Given the description of an element on the screen output the (x, y) to click on. 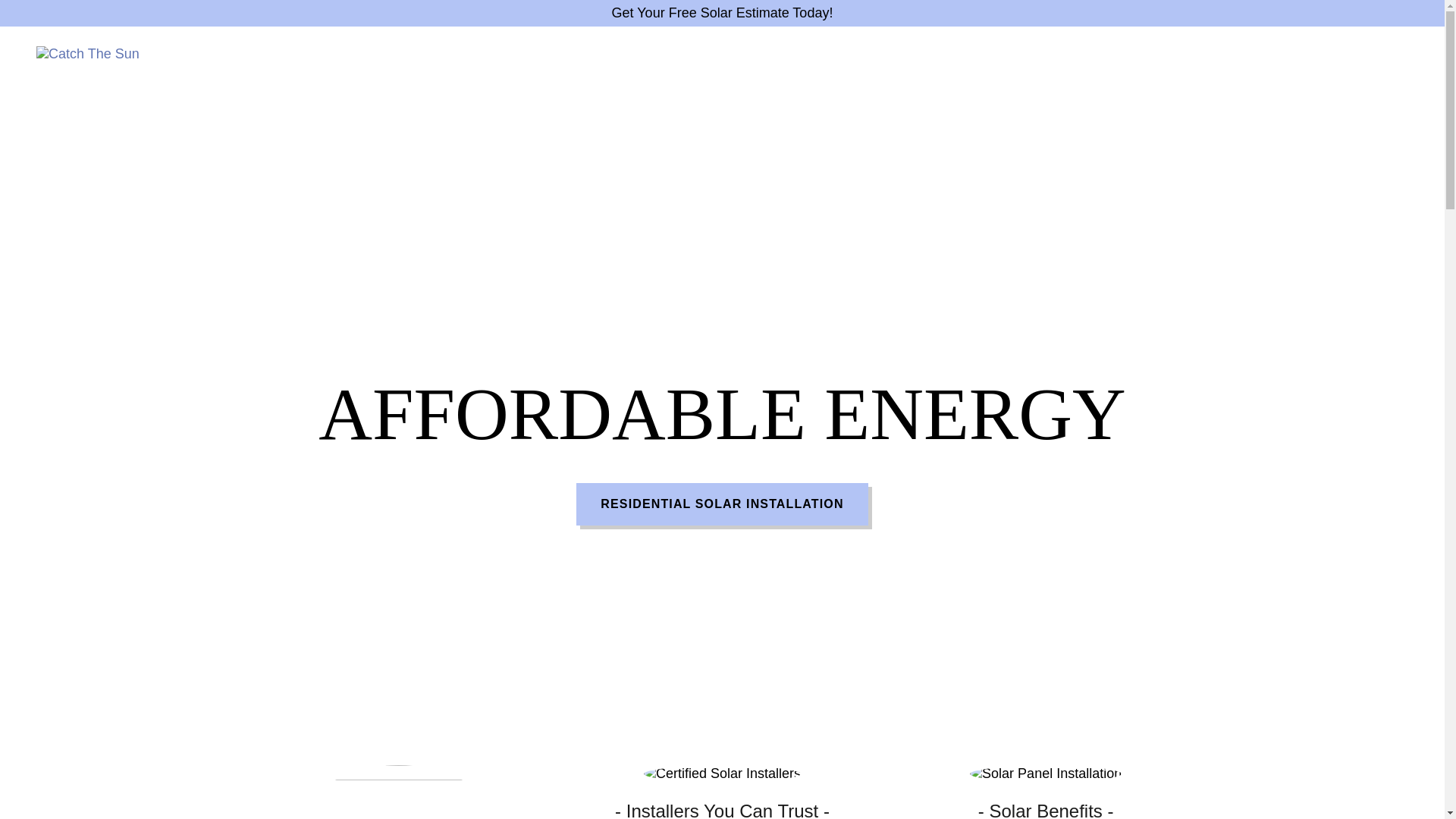
RESIDENTIAL SOLAR INSTALLATION (721, 504)
Catch The Sun (87, 51)
